Given the description of an element on the screen output the (x, y) to click on. 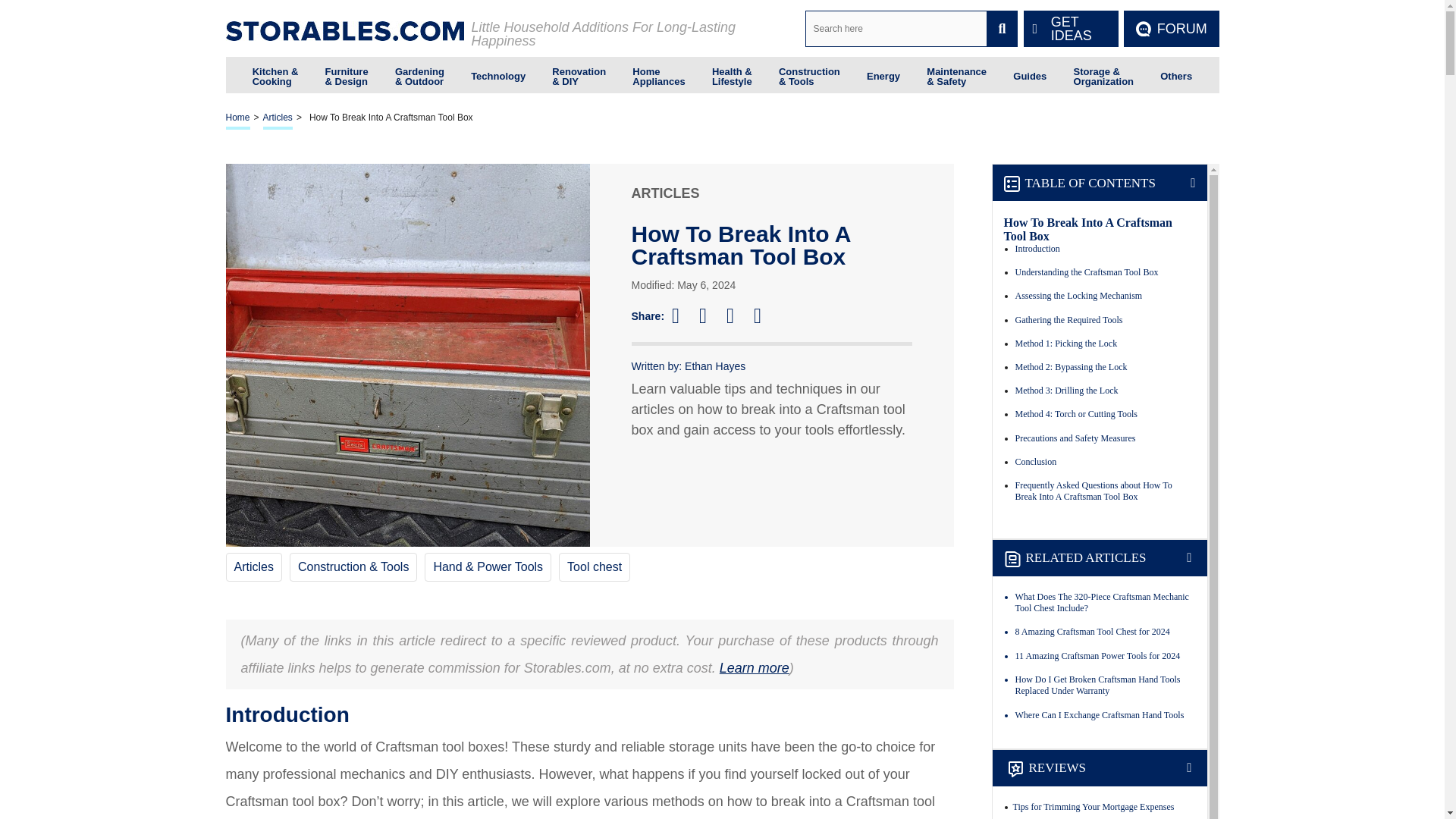
Technology (497, 74)
Share on Facebook (682, 315)
GET IDEAS (1070, 28)
Share on Twitter (709, 315)
Share on Pinterest (737, 315)
Share on WhatsApp (764, 315)
FORUM (1171, 28)
